Given the description of an element on the screen output the (x, y) to click on. 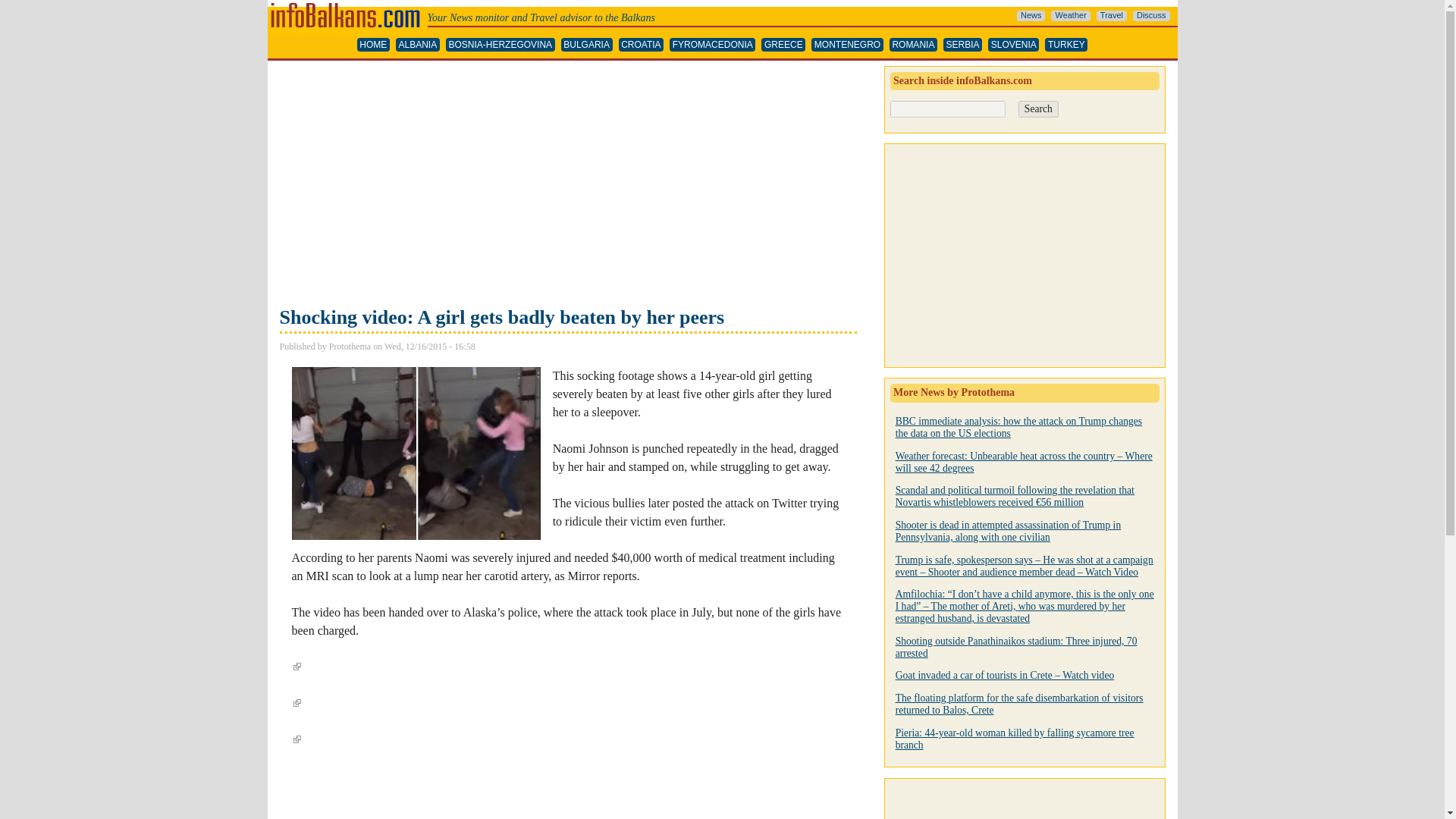
Discuss (1151, 15)
Weather (1070, 15)
ROMANIA (913, 44)
HOME (373, 44)
FYROMACEDONIA (712, 44)
GREECE (783, 44)
Enter the terms you wish to search for. (947, 108)
MONTENEGRO (846, 44)
Advertisement (567, 184)
CROATIA (640, 44)
SERBIA (962, 44)
BULGARIA (586, 44)
Travel (1111, 15)
Home (346, 6)
BOSNIA-HERZEGOVINA (499, 44)
